Given the description of an element on the screen output the (x, y) to click on. 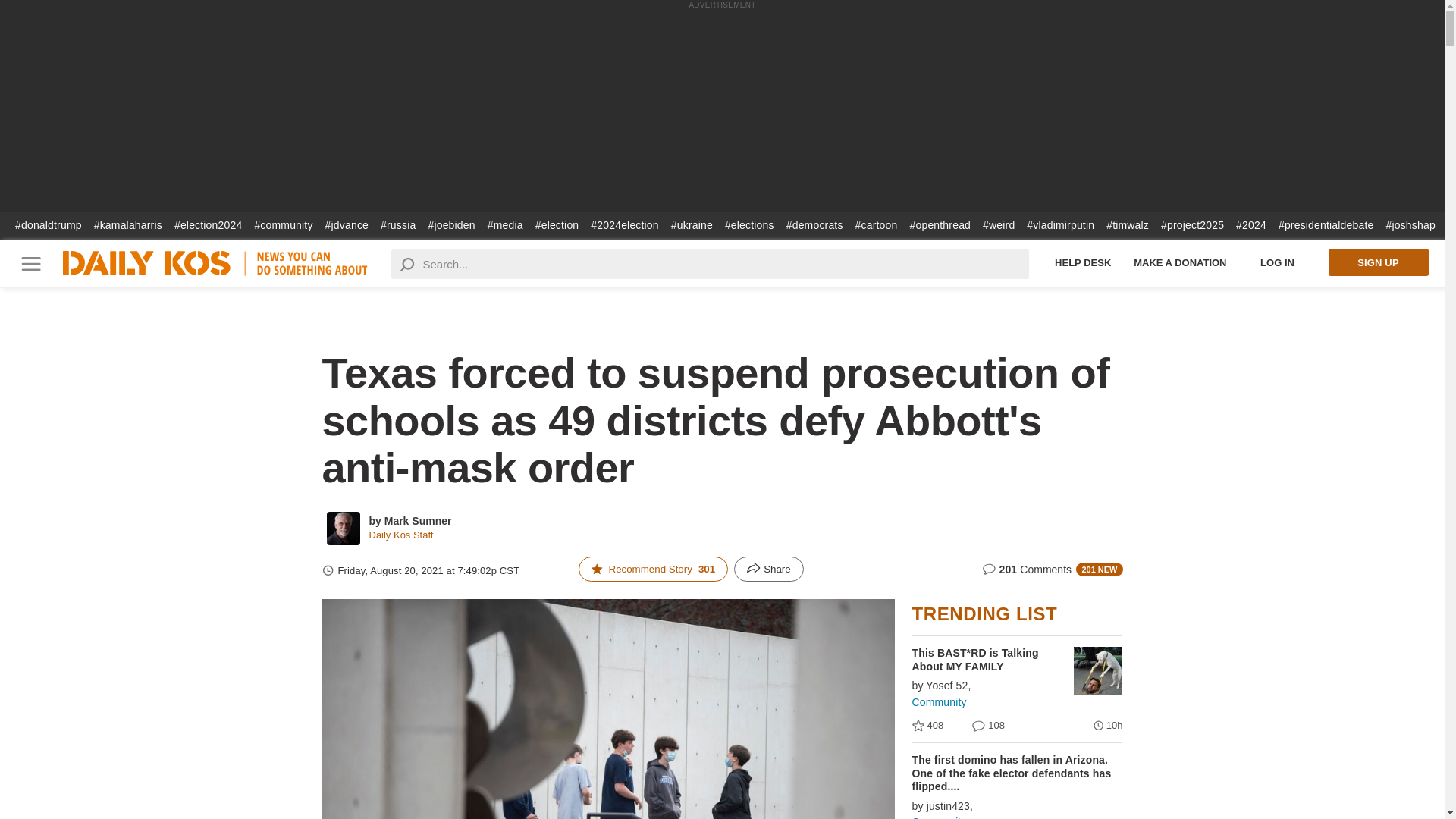
Make a Donation (1179, 262)
MAKE A DONATION (1179, 262)
Help Desk (1082, 262)
